Given the description of an element on the screen output the (x, y) to click on. 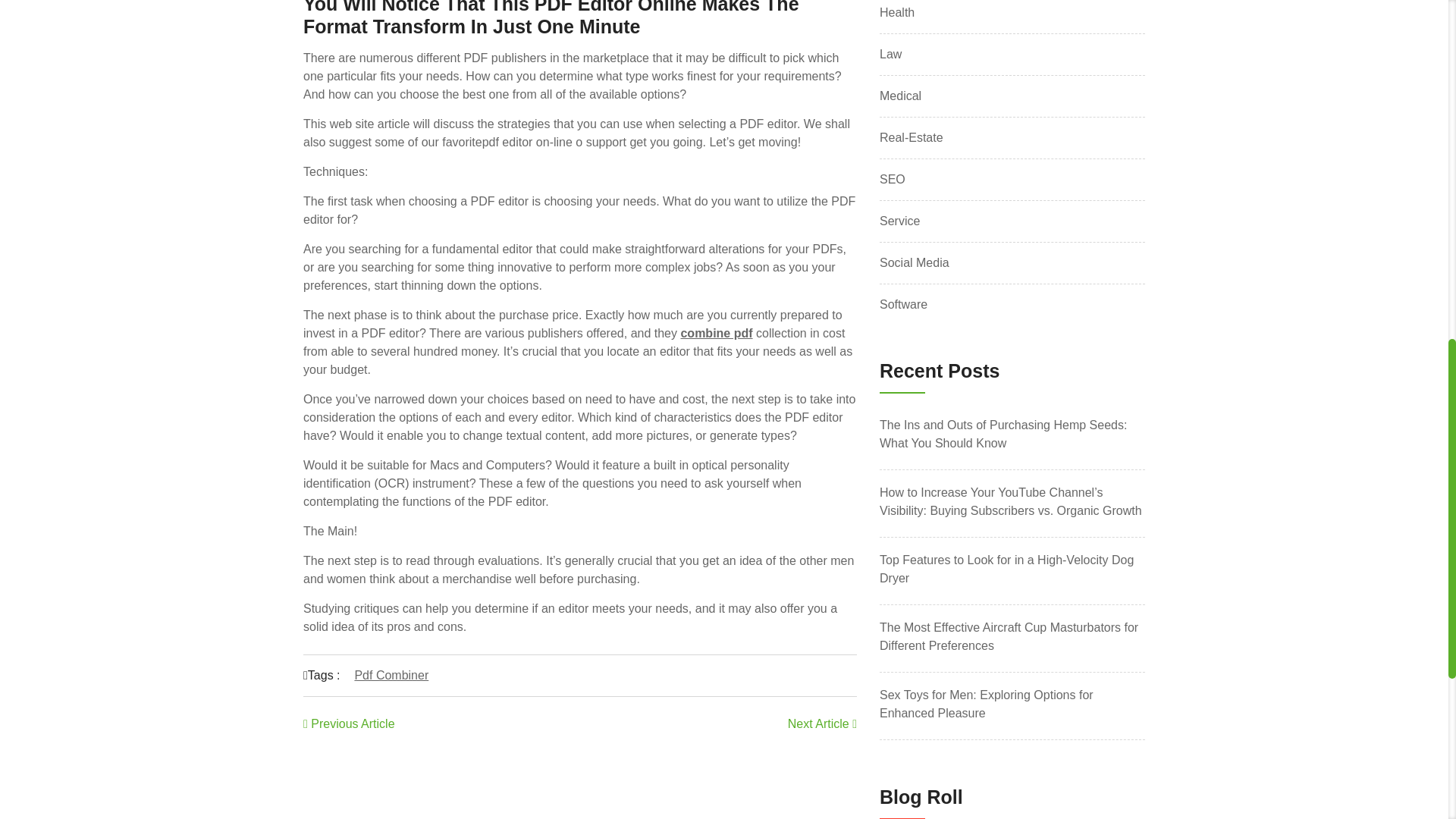
Medical (900, 95)
combine pdf (715, 332)
Pdf Combiner (390, 675)
Law (890, 54)
Previous Article (348, 723)
Top Features to Look for in a High-Velocity Dog Dryer (1011, 569)
Health (896, 13)
Next Article (822, 723)
Real-Estate (911, 137)
Service (899, 221)
SEO (892, 179)
Software (903, 304)
Social Media (914, 262)
